Given the description of an element on the screen output the (x, y) to click on. 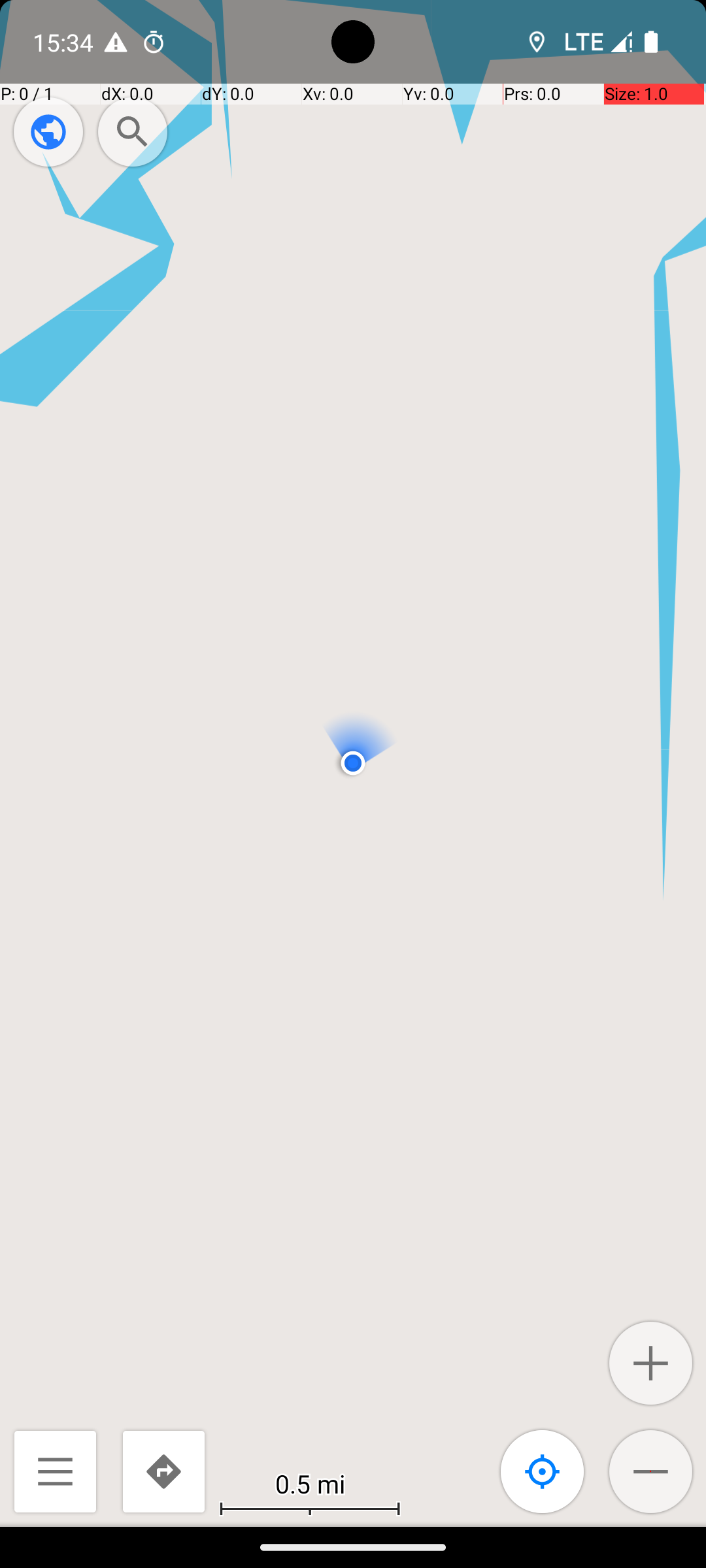
0.5 mi Element type: android.widget.TextView (309, 1483)
Map linked to location Element type: android.widget.ImageButton (542, 1471)
